Given the description of an element on the screen output the (x, y) to click on. 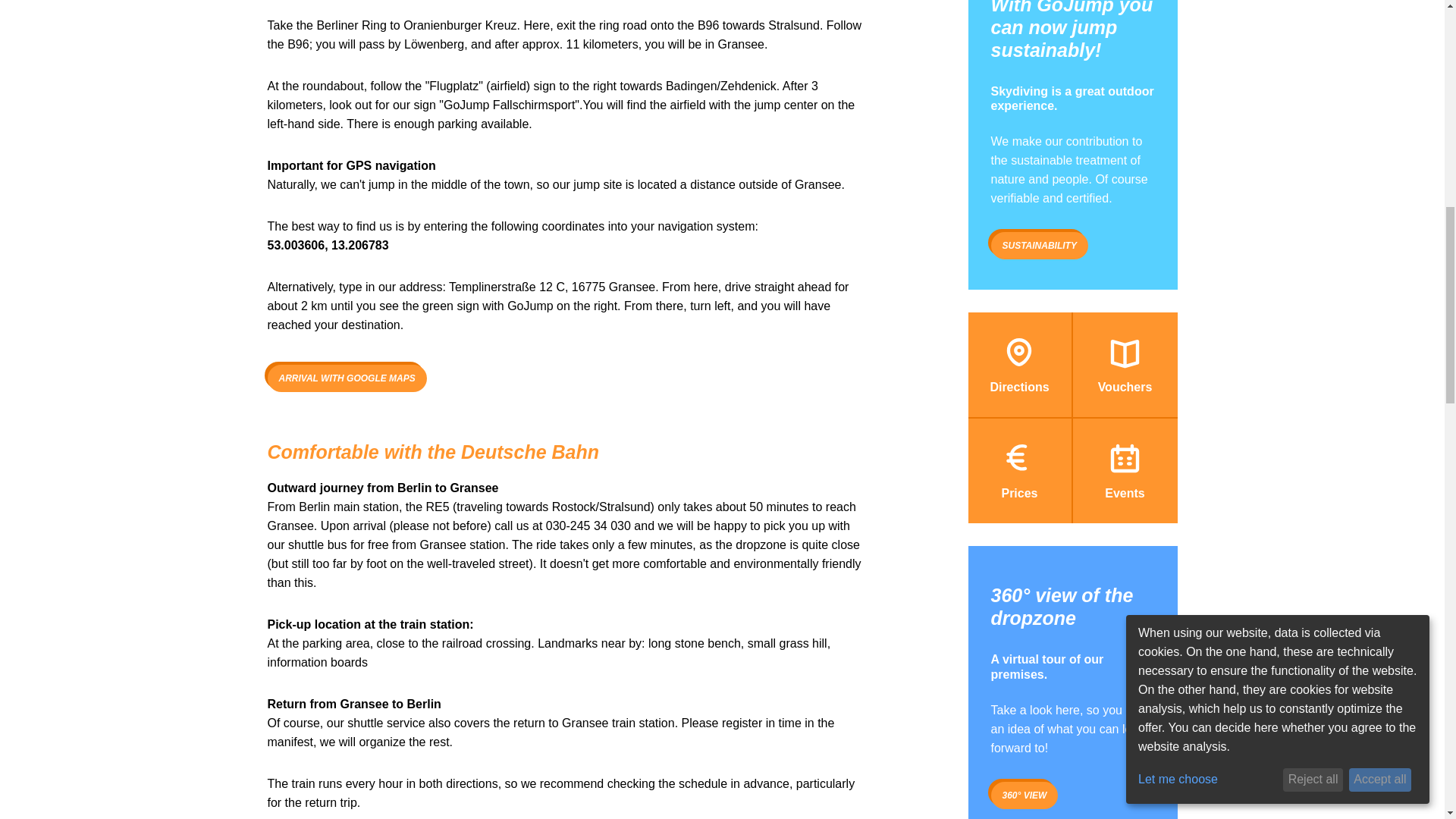
ARRIVAL WITH GOOGLE MAPS (346, 378)
Events (1123, 470)
Vouchers (1123, 364)
SUSTAINABILITY (1038, 245)
Prices (1019, 470)
Directions (1019, 364)
